Given the description of an element on the screen output the (x, y) to click on. 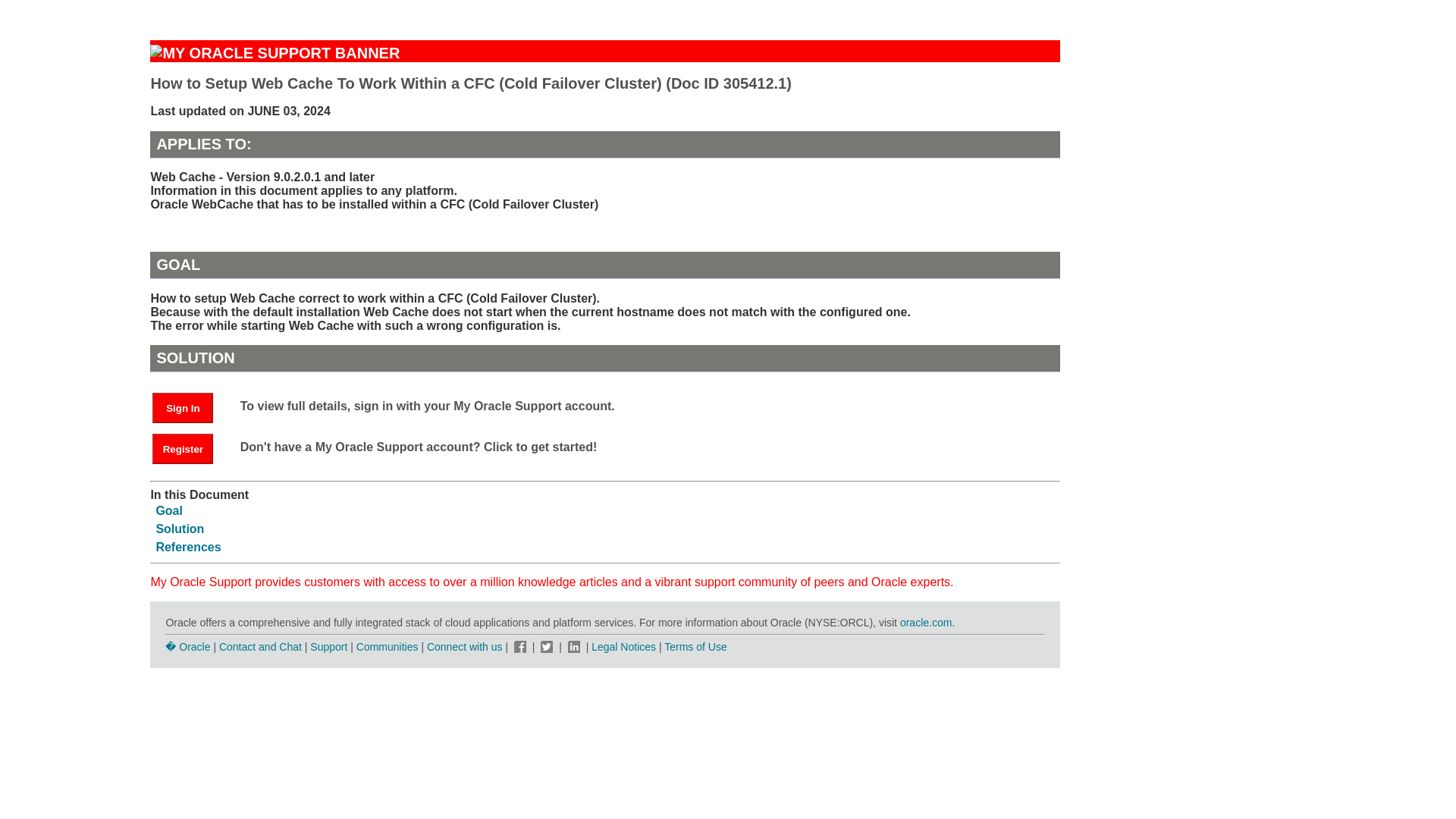
Legal Notices (623, 646)
Support (328, 646)
oracle.com (925, 622)
Terms of Use (694, 646)
Register (182, 449)
Connect with us (465, 646)
Sign In (182, 408)
Register (190, 448)
Contact and Chat (260, 646)
Communities (387, 646)
Goal (169, 510)
References (188, 546)
Sign In (190, 407)
Solution (179, 528)
oracle.com (925, 622)
